Given the description of an element on the screen output the (x, y) to click on. 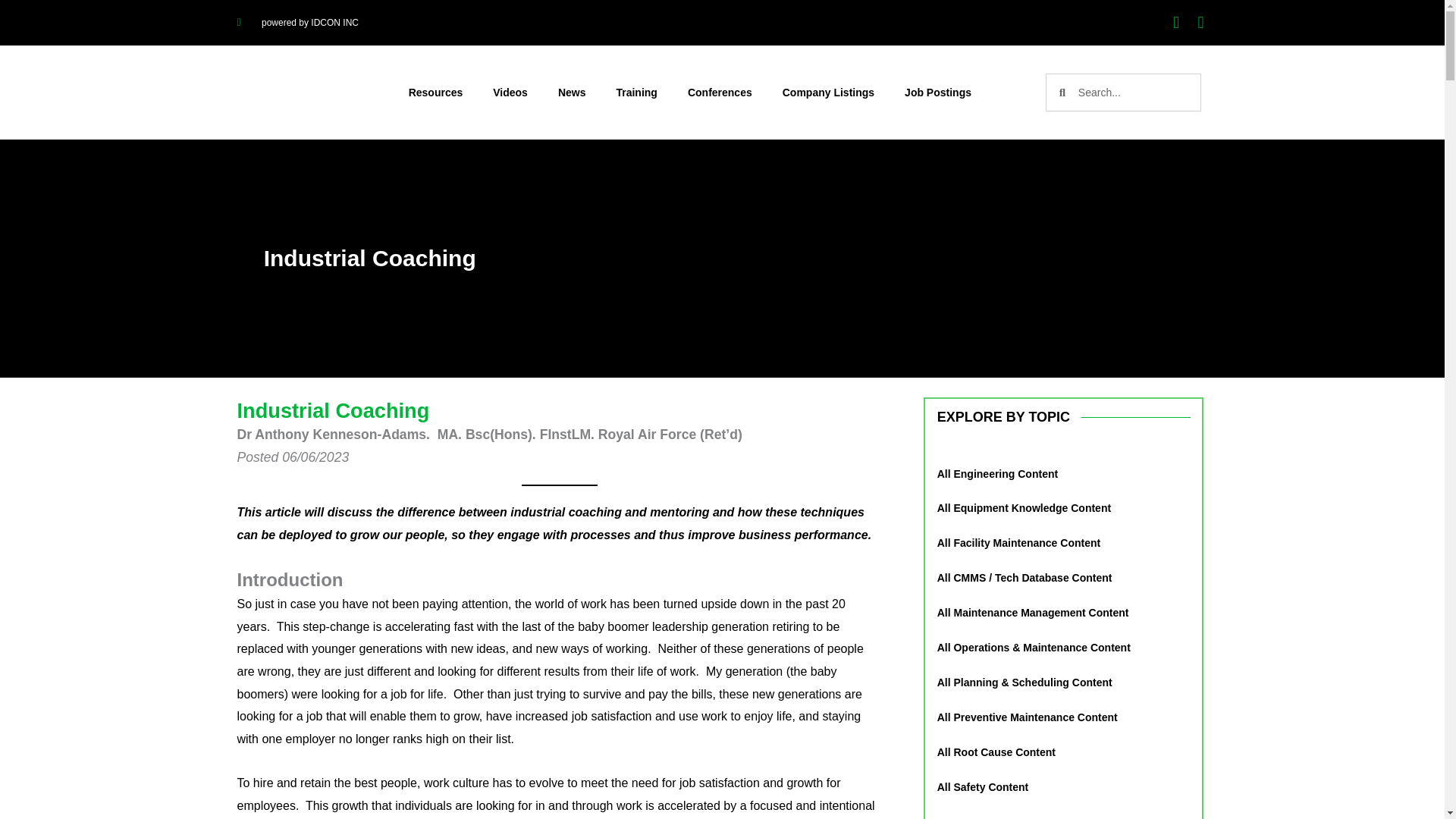
Company Listings (828, 92)
Videos (510, 92)
Job Postings (938, 92)
Training (635, 92)
Conferences (719, 92)
News (572, 92)
Resources (436, 92)
powered by IDCON INC (296, 22)
